Given the description of an element on the screen output the (x, y) to click on. 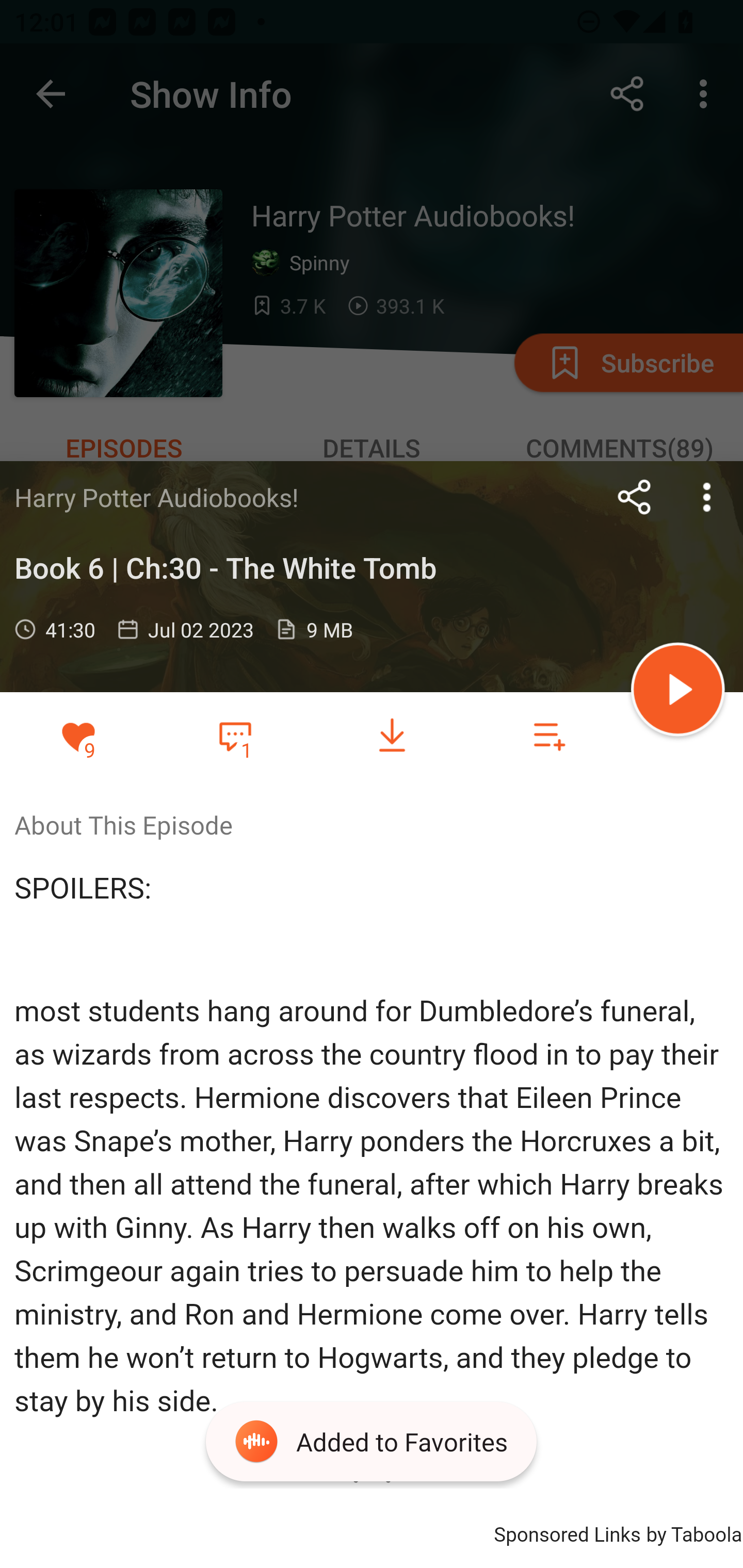
Share (634, 496)
more options (706, 496)
Play (677, 692)
1 Favorite (234, 735)
Remove from Favorites (78, 735)
Download (391, 735)
Add to playlist (548, 735)
Sponsored Links (566, 1531)
by Taboola (693, 1531)
